Given the description of an element on the screen output the (x, y) to click on. 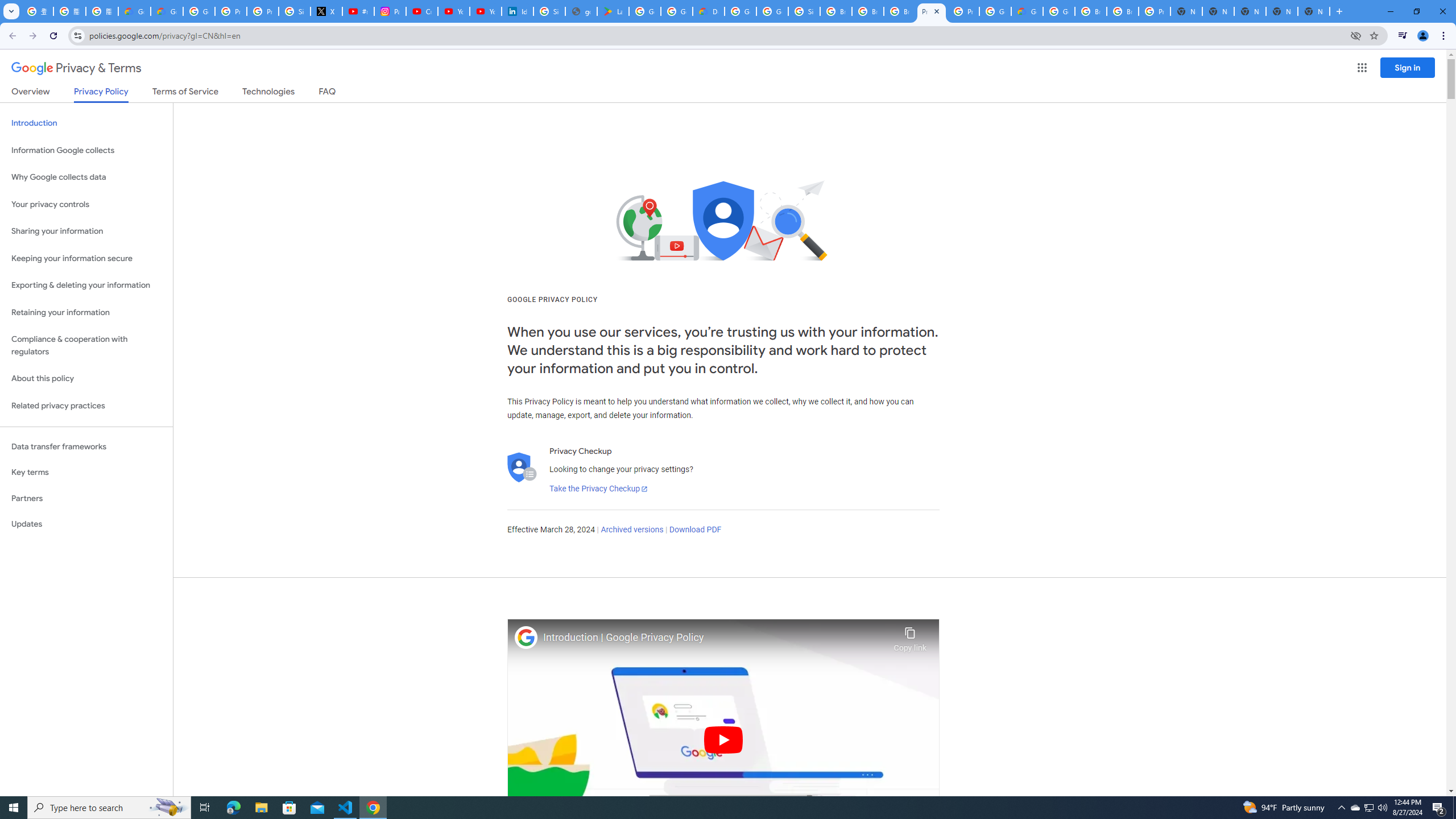
Browse Chrome as a guest - Computer - Google Chrome Help (836, 11)
View site information (77, 35)
Why Google collects data (86, 176)
Browse Chrome as a guest - Computer - Google Chrome Help (1123, 11)
Keeping your information secure (86, 258)
Privacy Help Center - Policies Help (230, 11)
Google Cloud Platform (740, 11)
Google Cloud Privacy Notice (134, 11)
Play (723, 739)
Third-party cookies blocked (1355, 35)
Related privacy practices (86, 405)
